Given the description of an element on the screen output the (x, y) to click on. 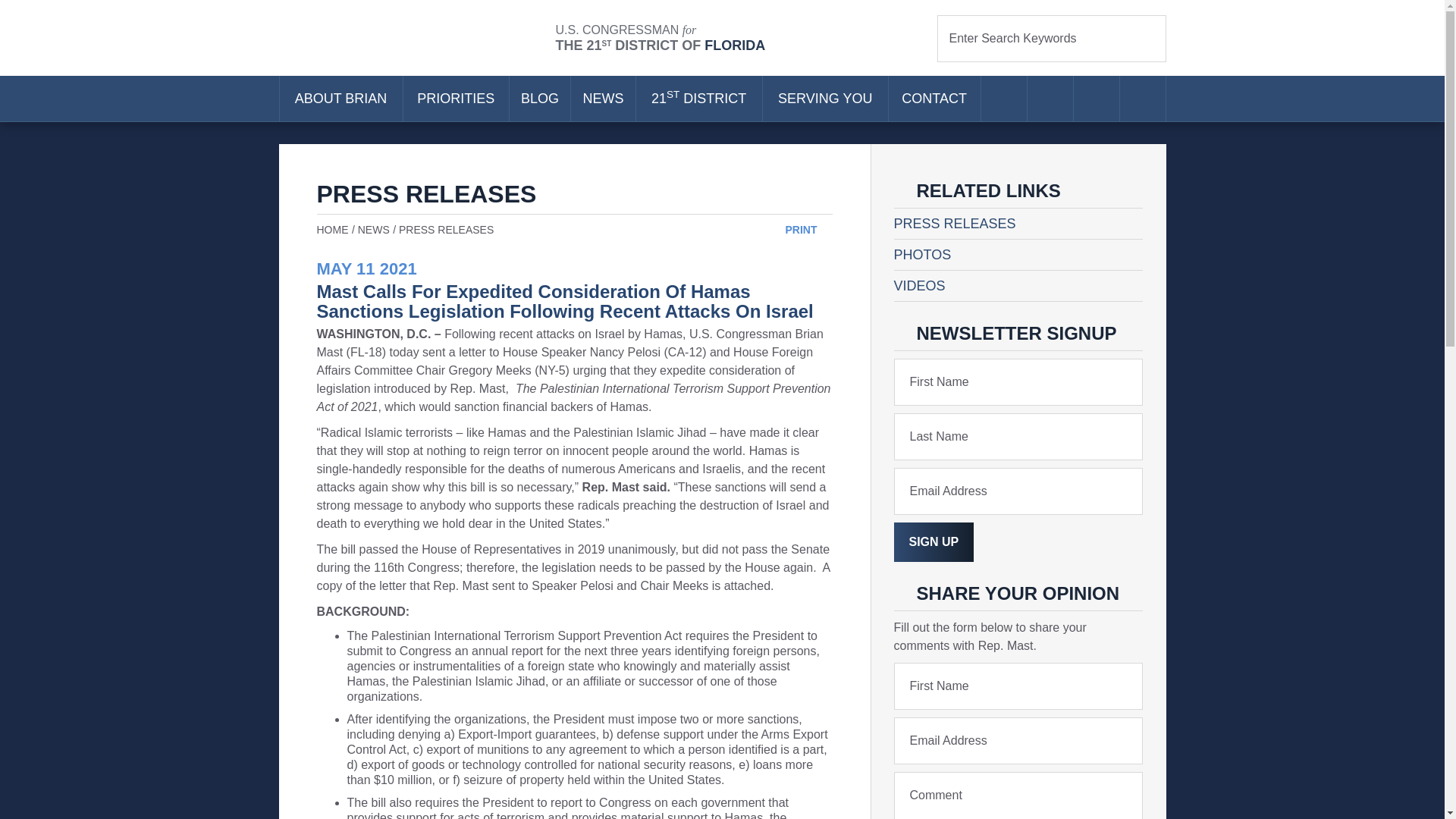
SERVING YOU (825, 98)
NEWS (602, 98)
Go (1144, 38)
21ST DISTRICT (698, 98)
Congressman Brian Mast (417, 38)
PRIORITIES (455, 98)
ABOUT BRIAN (340, 98)
CONTACT (933, 98)
BLOG (539, 98)
